Given the description of an element on the screen output the (x, y) to click on. 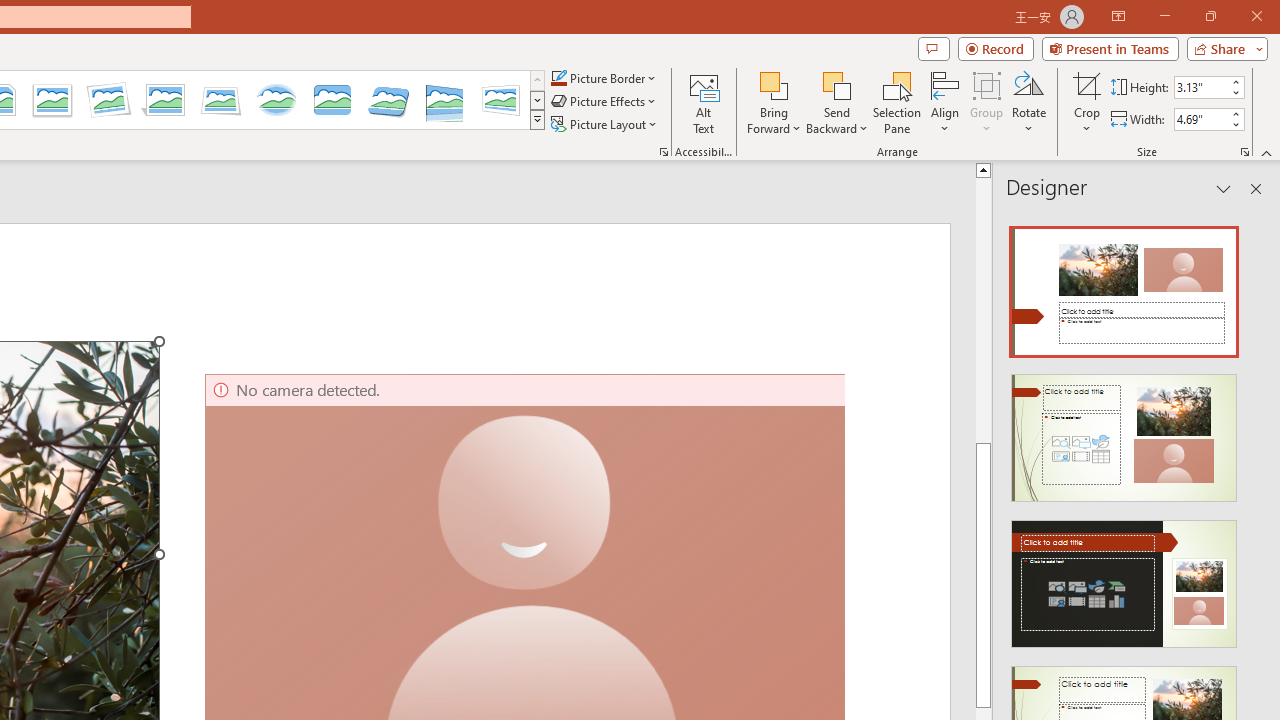
Group (987, 102)
Soft Edge Oval (276, 100)
Align (945, 102)
Send Backward (836, 102)
Bring Forward (773, 102)
Recommended Design: Design Idea (1124, 286)
Crop (1087, 84)
